Given the description of an element on the screen output the (x, y) to click on. 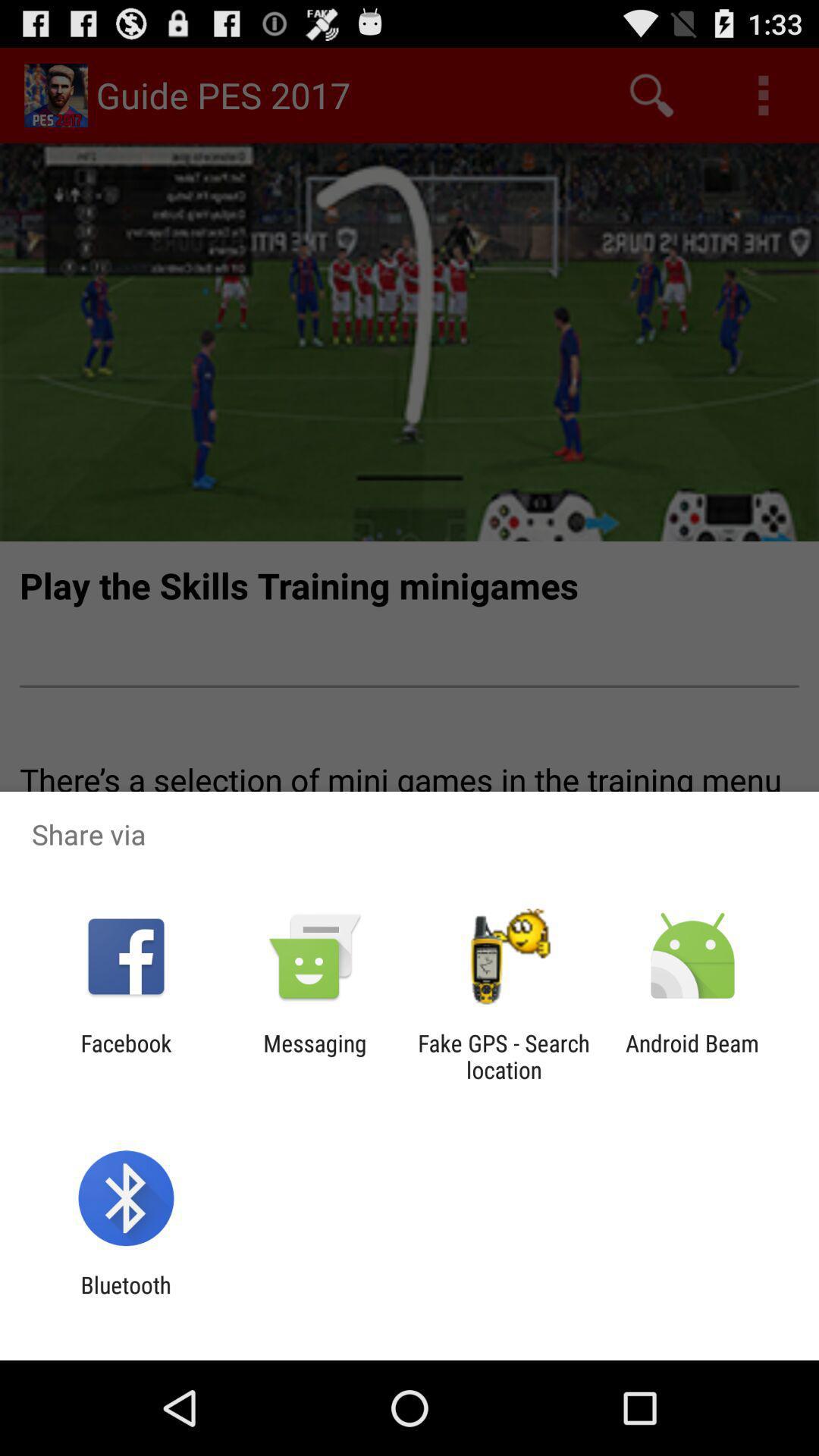
click icon to the left of fake gps search item (314, 1056)
